Given the description of an element on the screen output the (x, y) to click on. 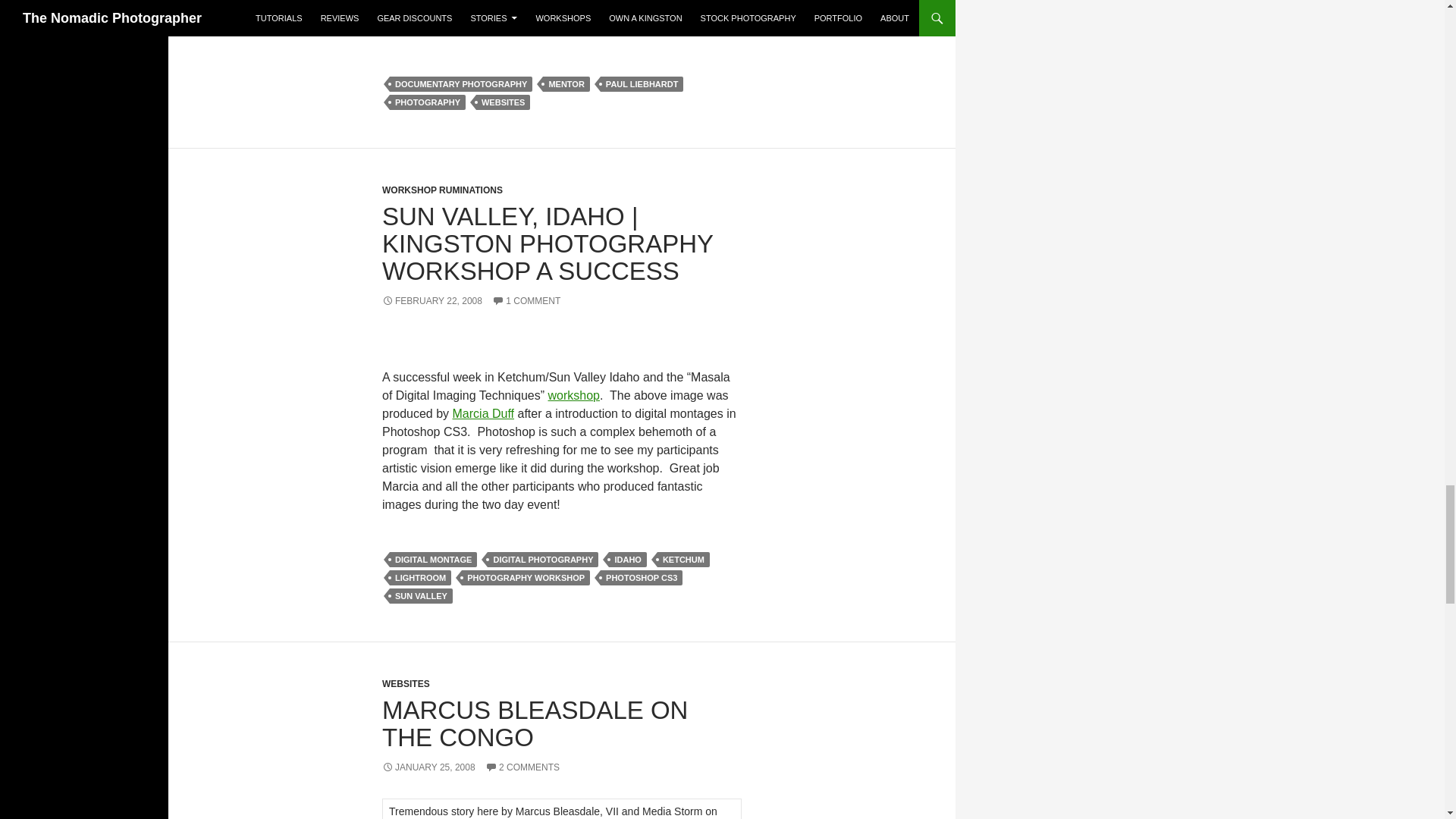
paulliebhardt-website (561, 19)
Marcia Duff Images (483, 413)
Kingston Photo workshops (572, 395)
